Given the description of an element on the screen output the (x, y) to click on. 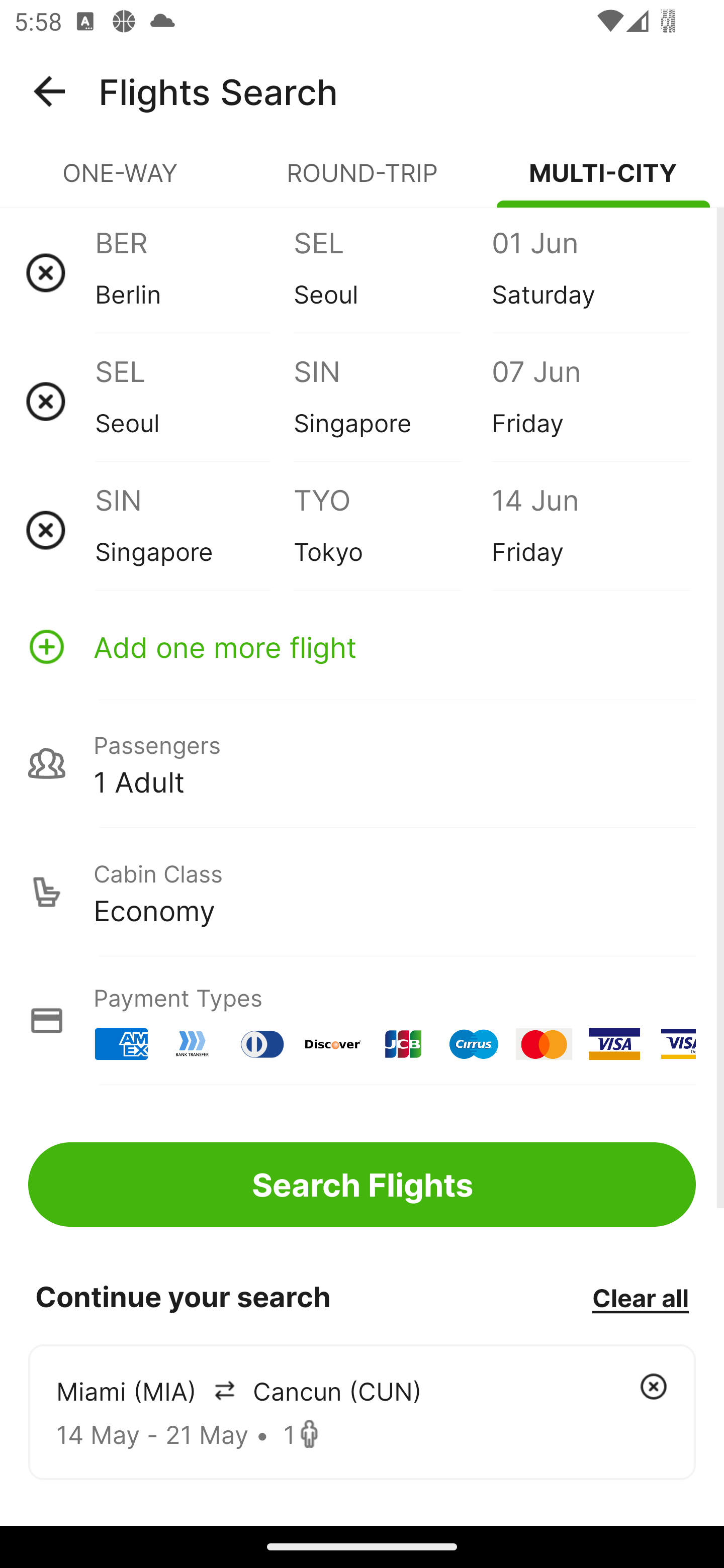
ONE-WAY (120, 180)
ROUND-TRIP (361, 180)
MULTI-CITY (603, 180)
BER Berlin (193, 272)
SEL Seoul (392, 272)
01 Jun Saturday (590, 272)
SEL Seoul (193, 401)
SIN Singapore (392, 401)
07 Jun Friday (590, 401)
SIN Singapore (193, 529)
TYO Tokyo (392, 529)
14 Jun Friday (590, 529)
Add one more flight (362, 646)
Passengers 1 Adult (362, 762)
Cabin Class Economy (362, 891)
Payment Types (362, 1020)
Search Flights (361, 1184)
Clear all (640, 1297)
